Given the description of an element on the screen output the (x, y) to click on. 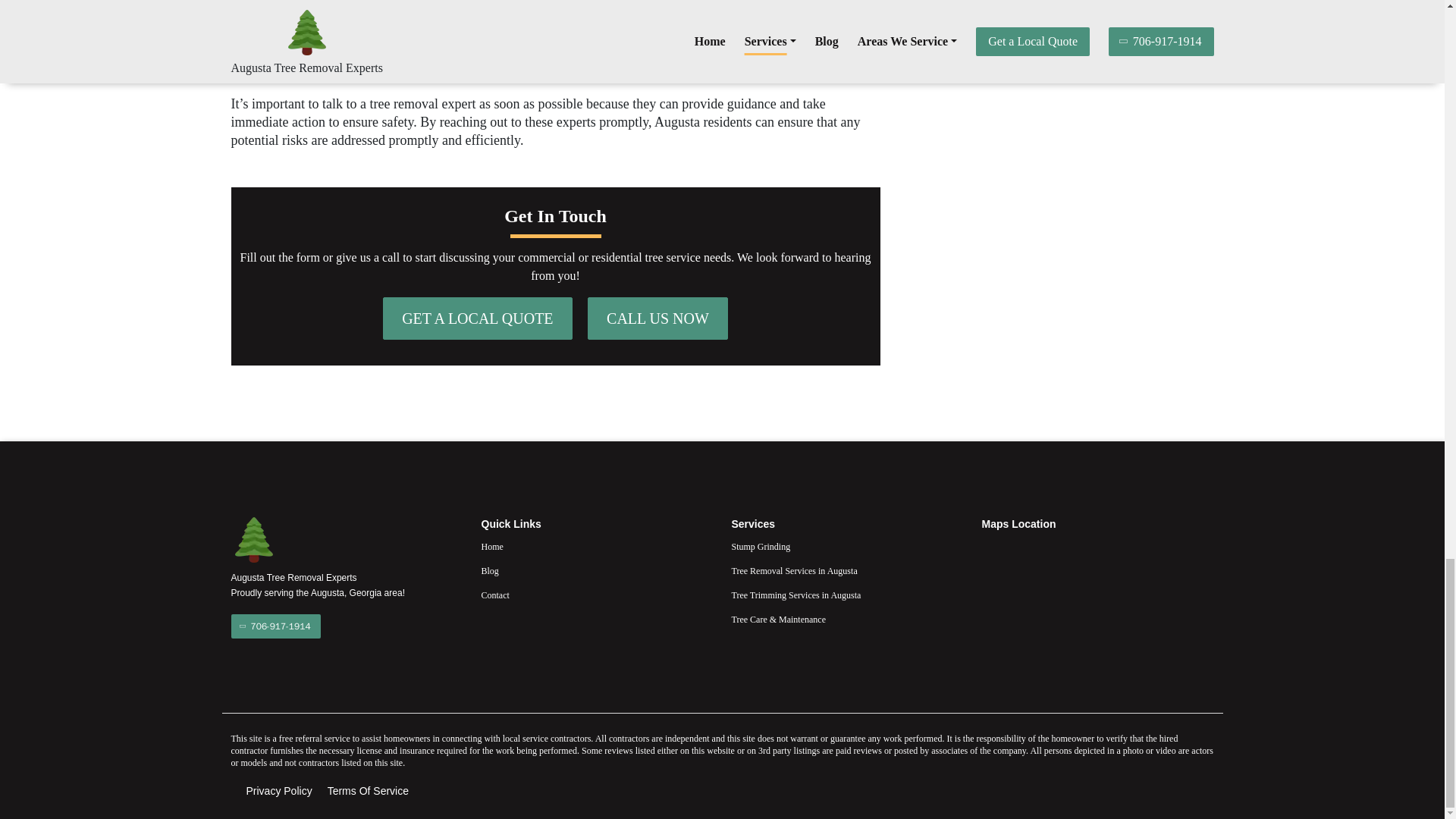
Home (596, 546)
Contact (596, 595)
Blog (596, 570)
GET A LOCAL QUOTE (477, 318)
CALL US NOW (658, 318)
706-917-1914 (275, 626)
